Given the description of an element on the screen output the (x, y) to click on. 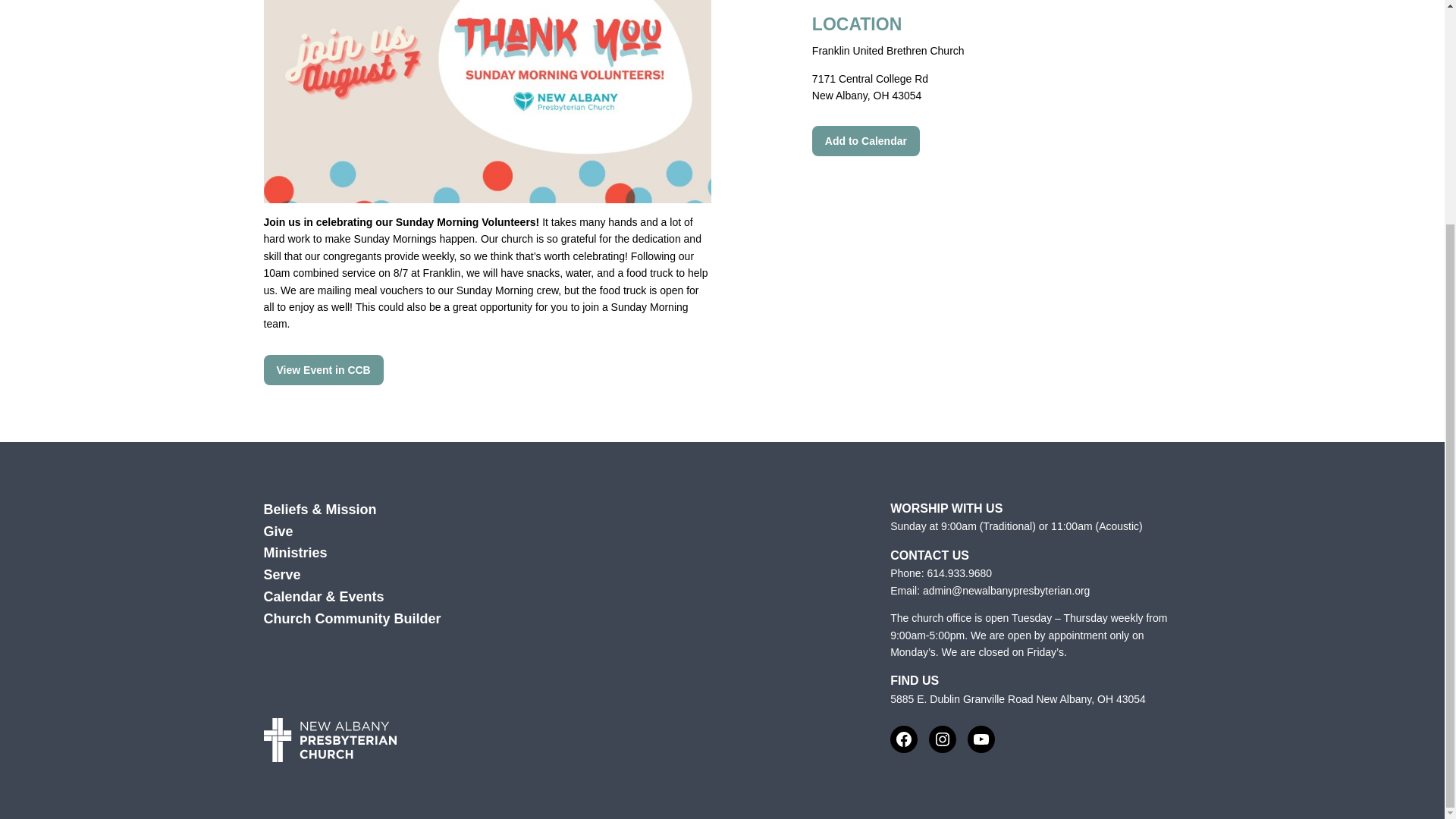
Ministries (295, 553)
Church Community Builder (352, 618)
YouTube (981, 738)
View Event in CCB (323, 369)
Instagram (942, 738)
Add to Calendar (866, 141)
Facebook (903, 738)
NAPC Logo (329, 739)
Serve (282, 575)
Give (278, 531)
